Given the description of an element on the screen output the (x, y) to click on. 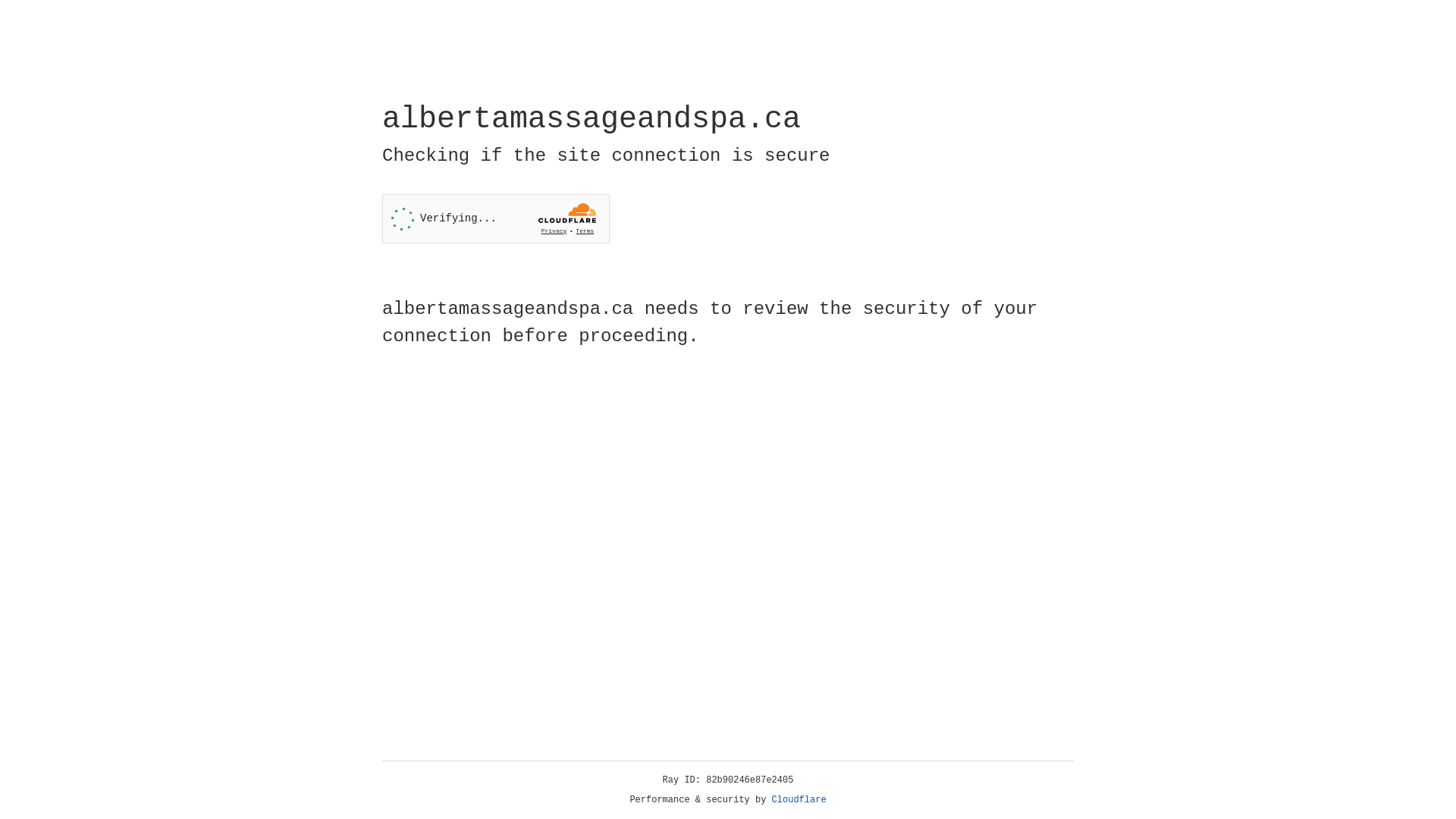
Widget containing a Cloudflare security challenge Element type: hover (495, 218)
Cloudflare Element type: text (798, 799)
